Given the description of an element on the screen output the (x, y) to click on. 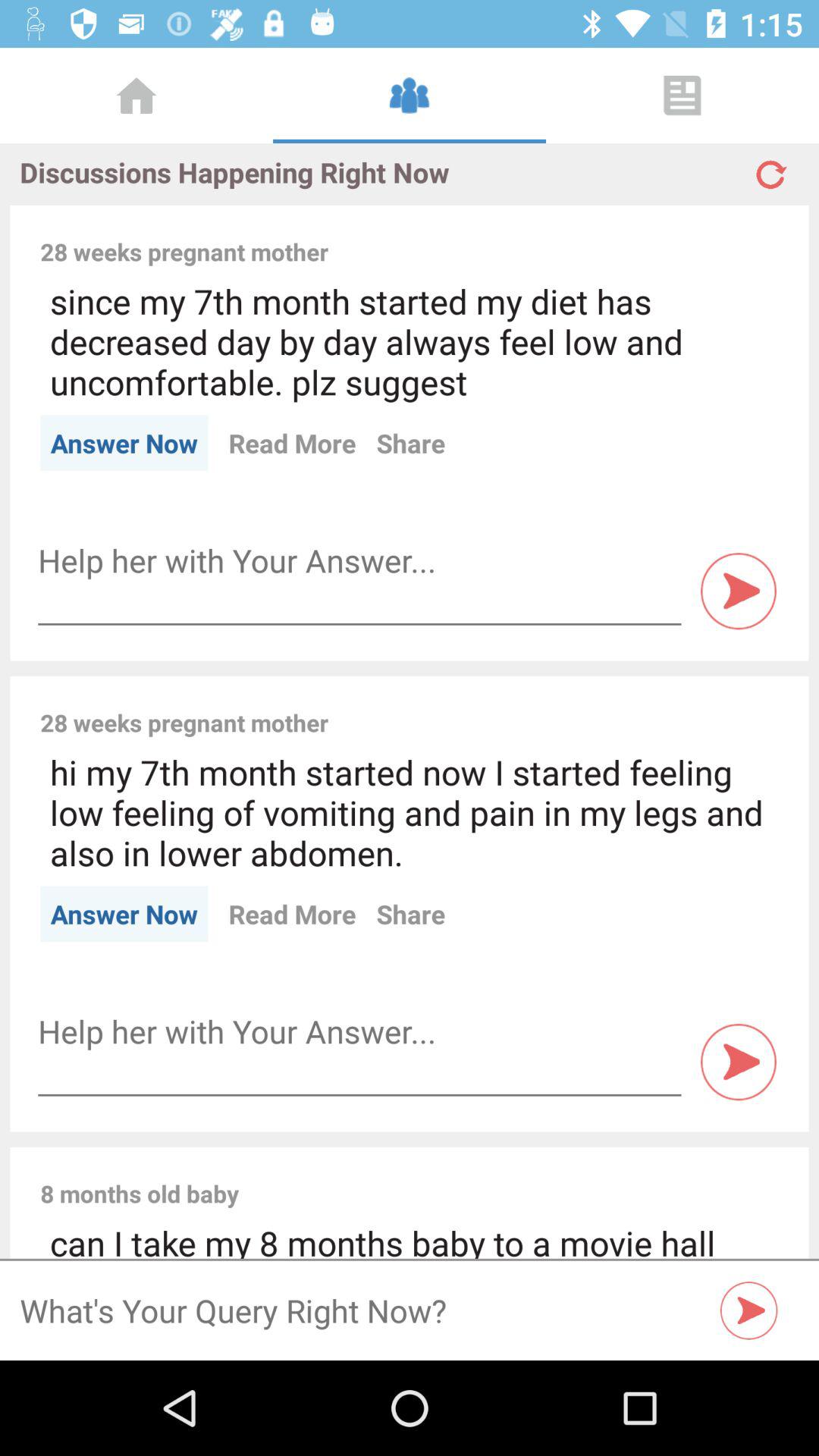
turn off item below 8 months old item (409, 1238)
